Given the description of an element on the screen output the (x, y) to click on. 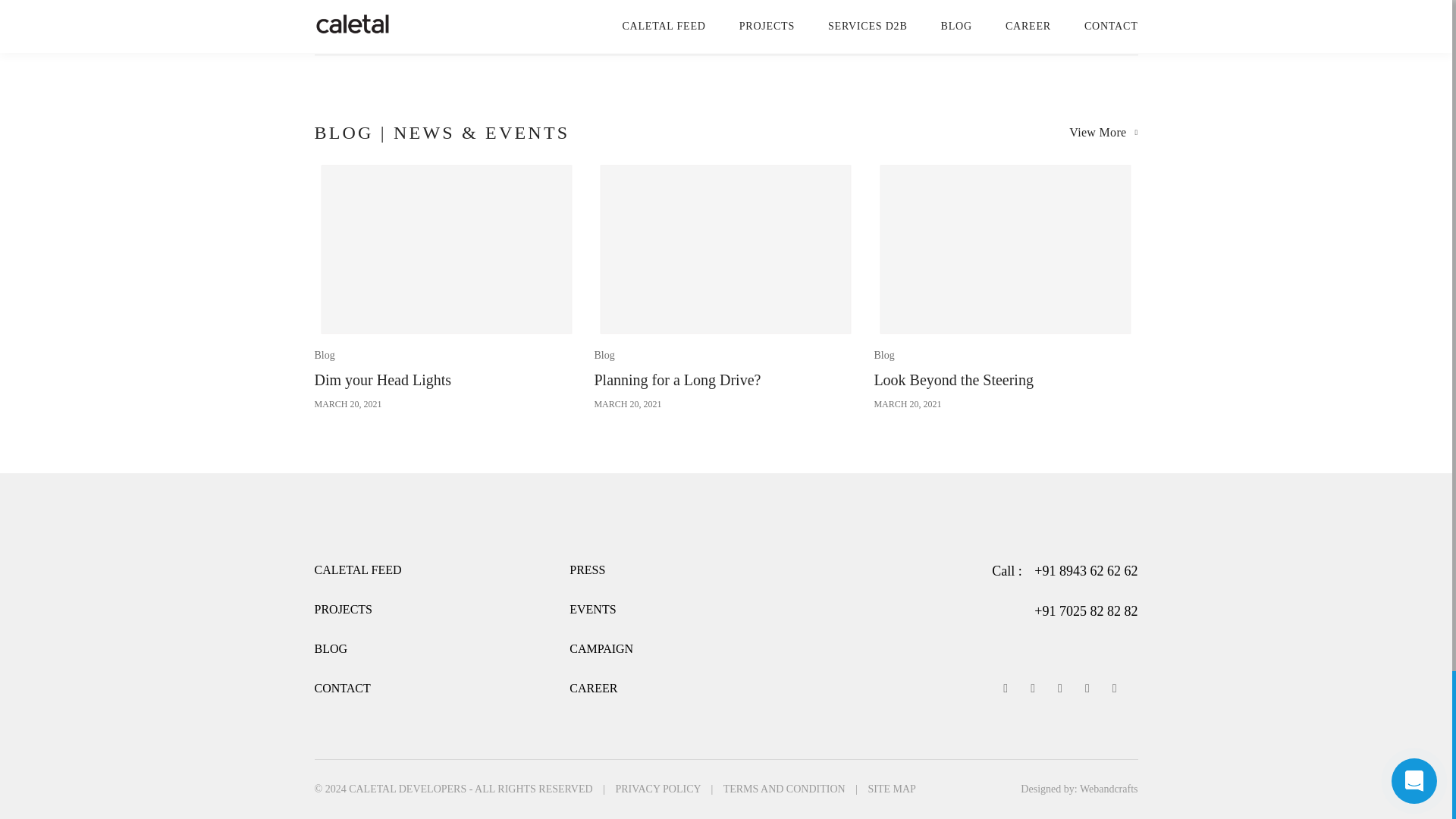
PROJECTS (342, 608)
CONTACT (341, 687)
CAREER (593, 687)
View More (1102, 132)
BLOG (330, 648)
PRESS (725, 285)
EVENTS (446, 285)
CALETAL FEED (587, 569)
CAMPAIGN (592, 608)
